Given the description of an element on the screen output the (x, y) to click on. 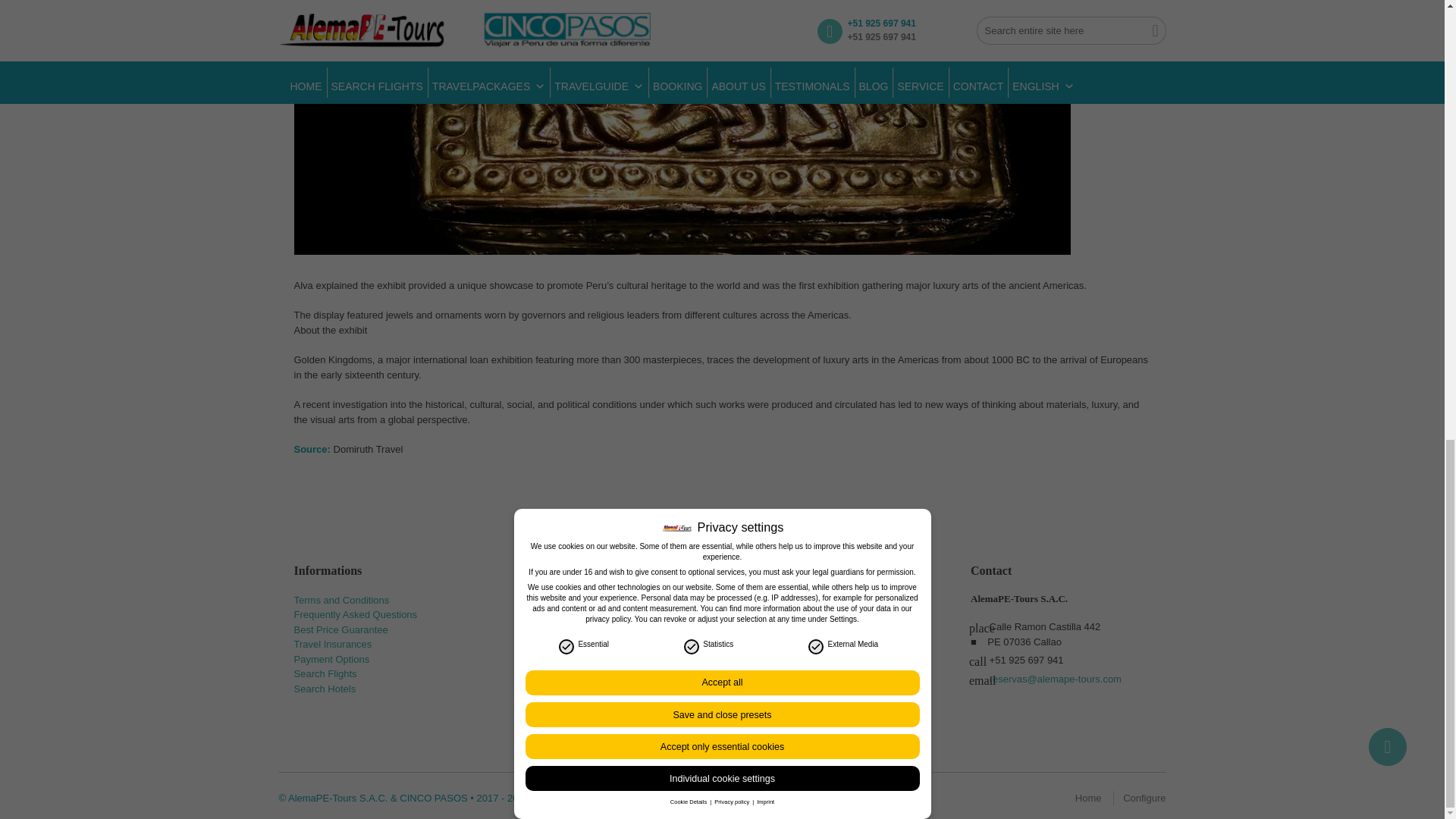
youtube (600, 607)
instagram (667, 607)
twitter (568, 607)
pinterest (634, 607)
facebook (534, 607)
